Given the description of an element on the screen output the (x, y) to click on. 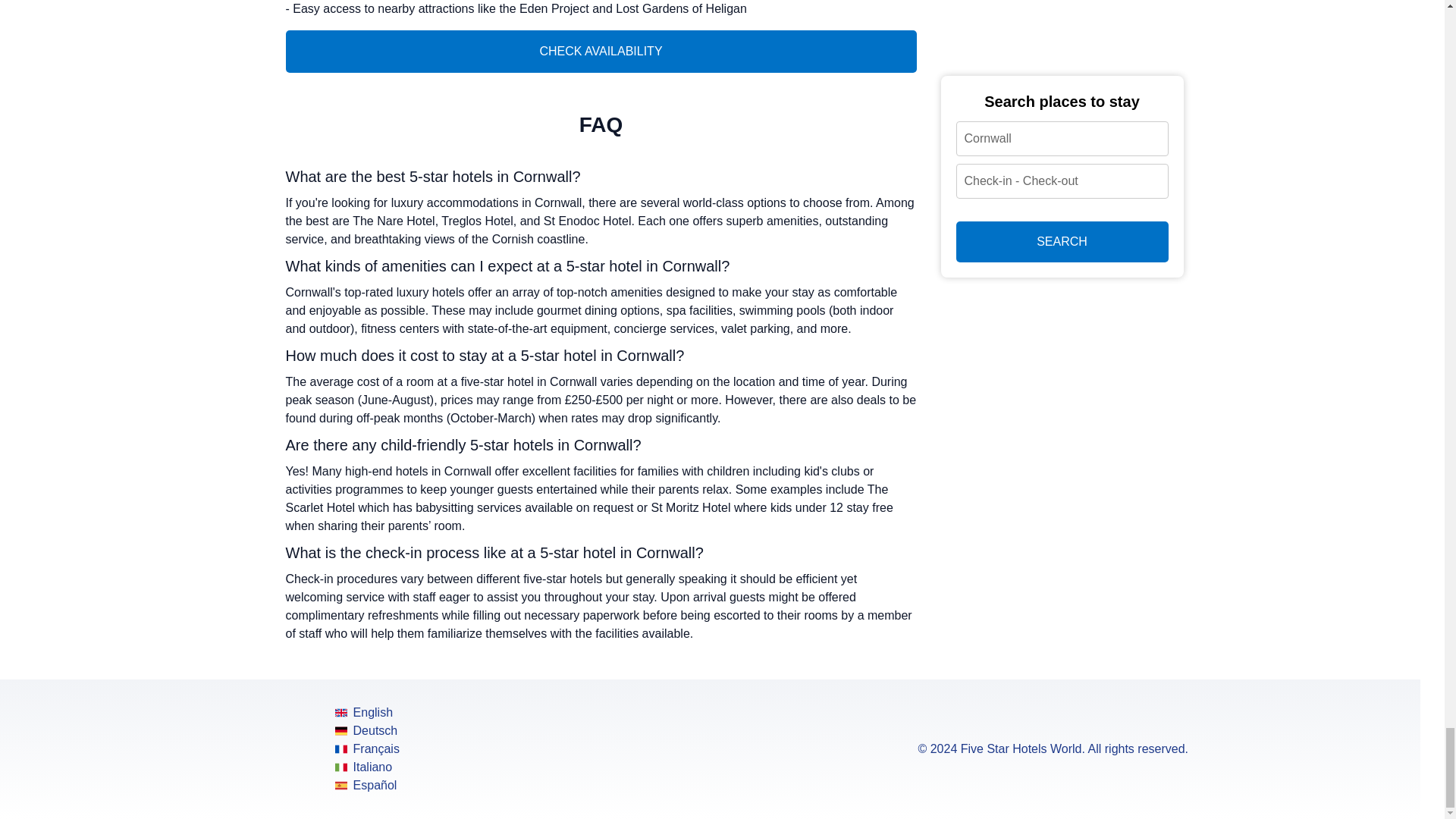
English (366, 712)
Italiano (366, 767)
Deutsch (366, 730)
